Given the description of an element on the screen output the (x, y) to click on. 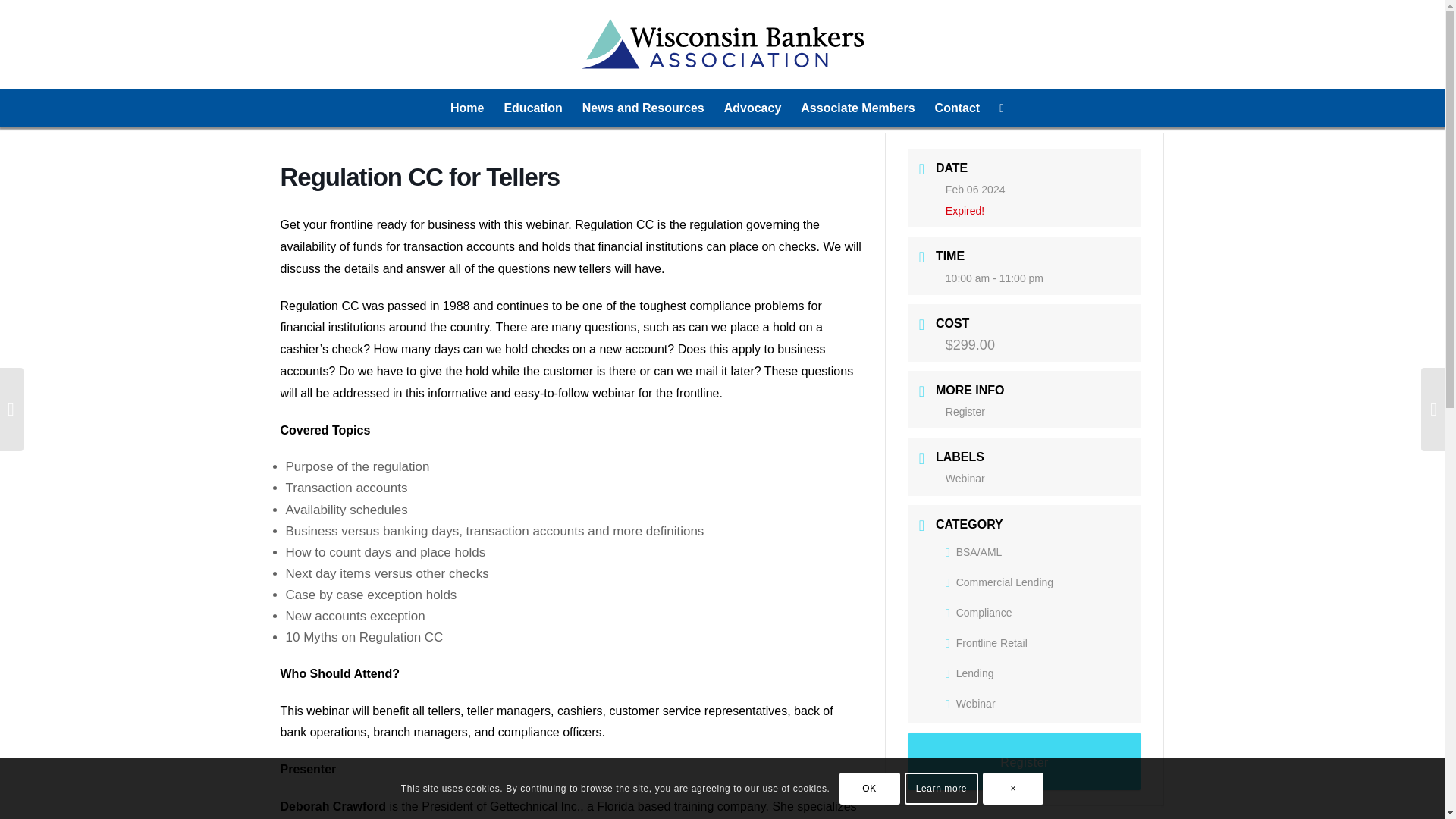
Compliance (977, 612)
Wisconsin Bankers Association (467, 108)
Wisconsin-Bankers-Association-logo (722, 44)
Wisconsin Bank Industry Advocacy (753, 108)
Wisconsin Banking Industry Vendors (857, 108)
Contact (957, 108)
Contact Wisconsin Banking Industry (957, 108)
Frontline Retail (985, 643)
Wisconsin-Bankers-Association-logo (722, 44)
Associate Members (857, 108)
Advocacy (753, 108)
Banking Industry Education (532, 108)
Home (467, 108)
Register (964, 411)
Commercial Lending (998, 582)
